Given the description of an element on the screen output the (x, y) to click on. 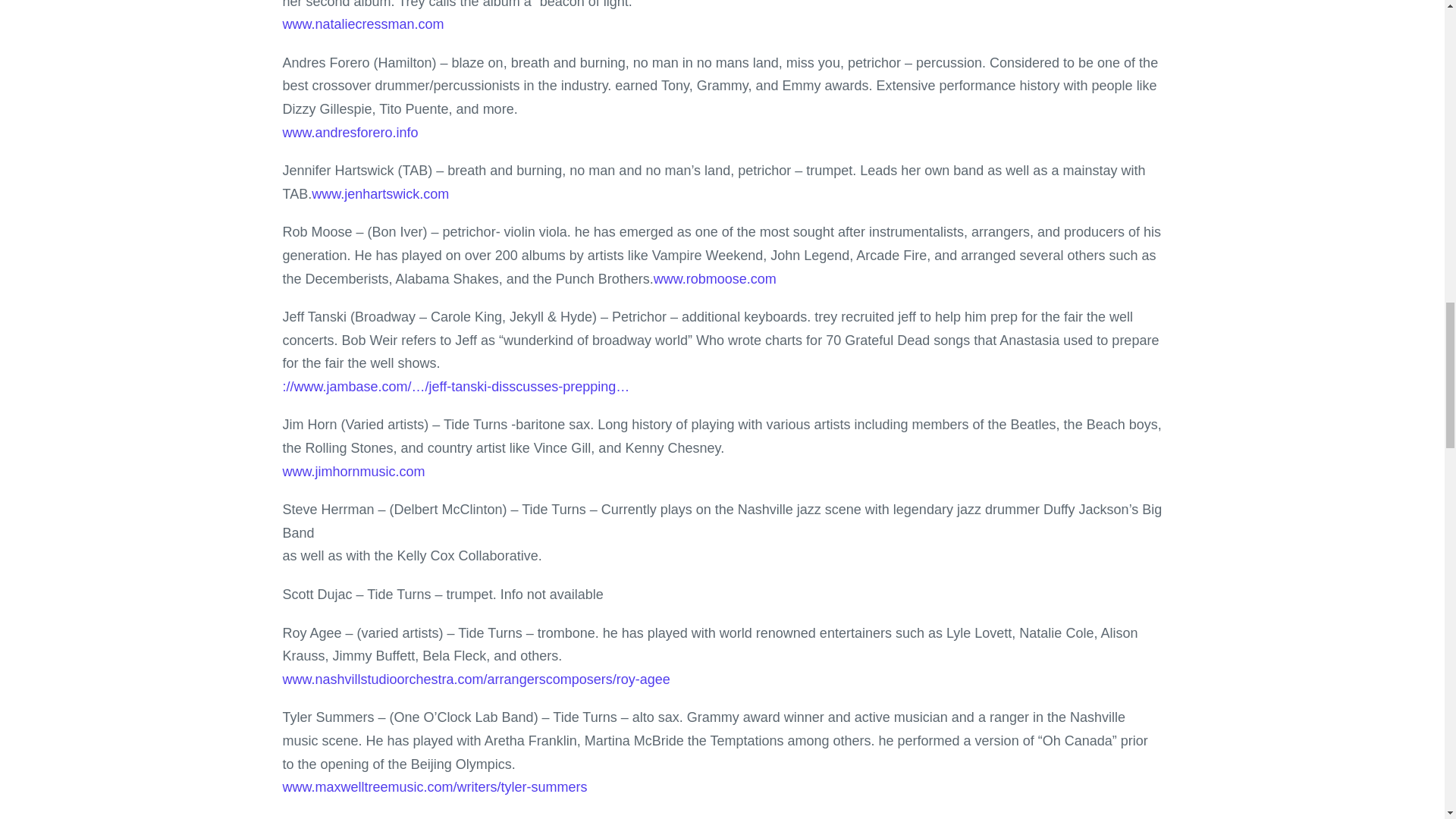
www.jenhartswick.com (379, 193)
www.jimhornmusic.com (353, 471)
www.andresforero.info (349, 132)
www.nataliecressman.com (363, 23)
www.robmoose.com (714, 278)
